Given the description of an element on the screen output the (x, y) to click on. 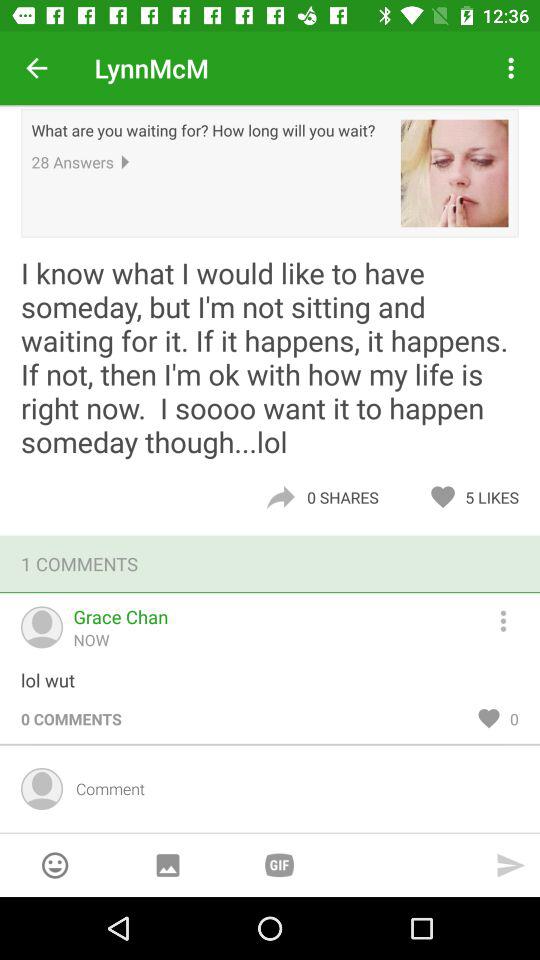
get more option (512, 618)
